Given the description of an element on the screen output the (x, y) to click on. 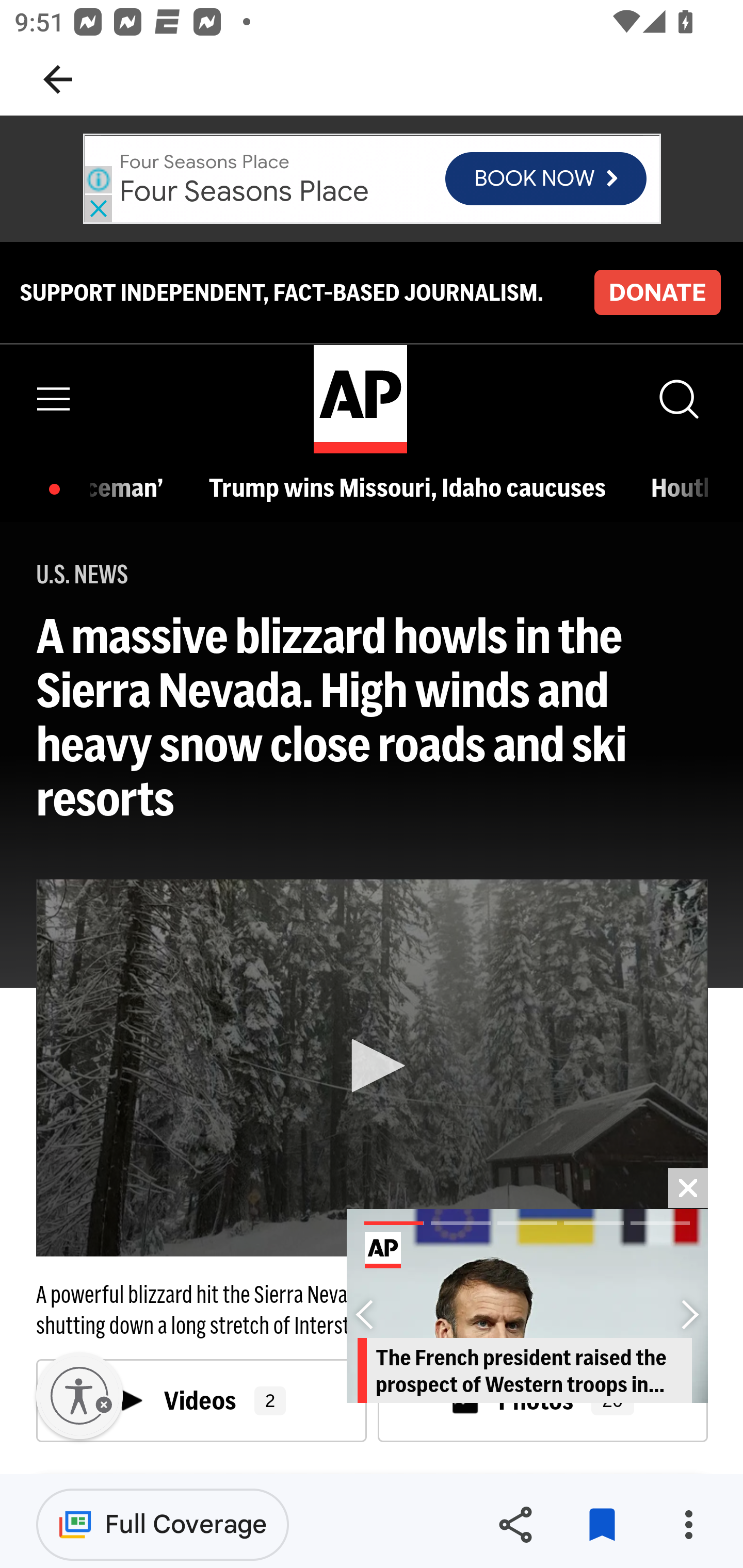
Navigate up (57, 79)
Four Seasons Place (204, 161)
BOOK NOW (545, 178)
Four Seasons Place (244, 190)
DONATE (657, 291)
home page AP Logo (359, 398)
Menu (54, 398)
Show Search (677, 398)
Adam Sandler in ‘Spaceman’ (131, 487)
Trump wins Missouri, Idaho caucuses (411, 487)
U.S. NEWS (83, 574)
Play (372, 1066)
Enable accessibility (79, 1395)
Share (514, 1524)
Remove from saved stories (601, 1524)
More options (688, 1524)
Full Coverage (162, 1524)
